Given the description of an element on the screen output the (x, y) to click on. 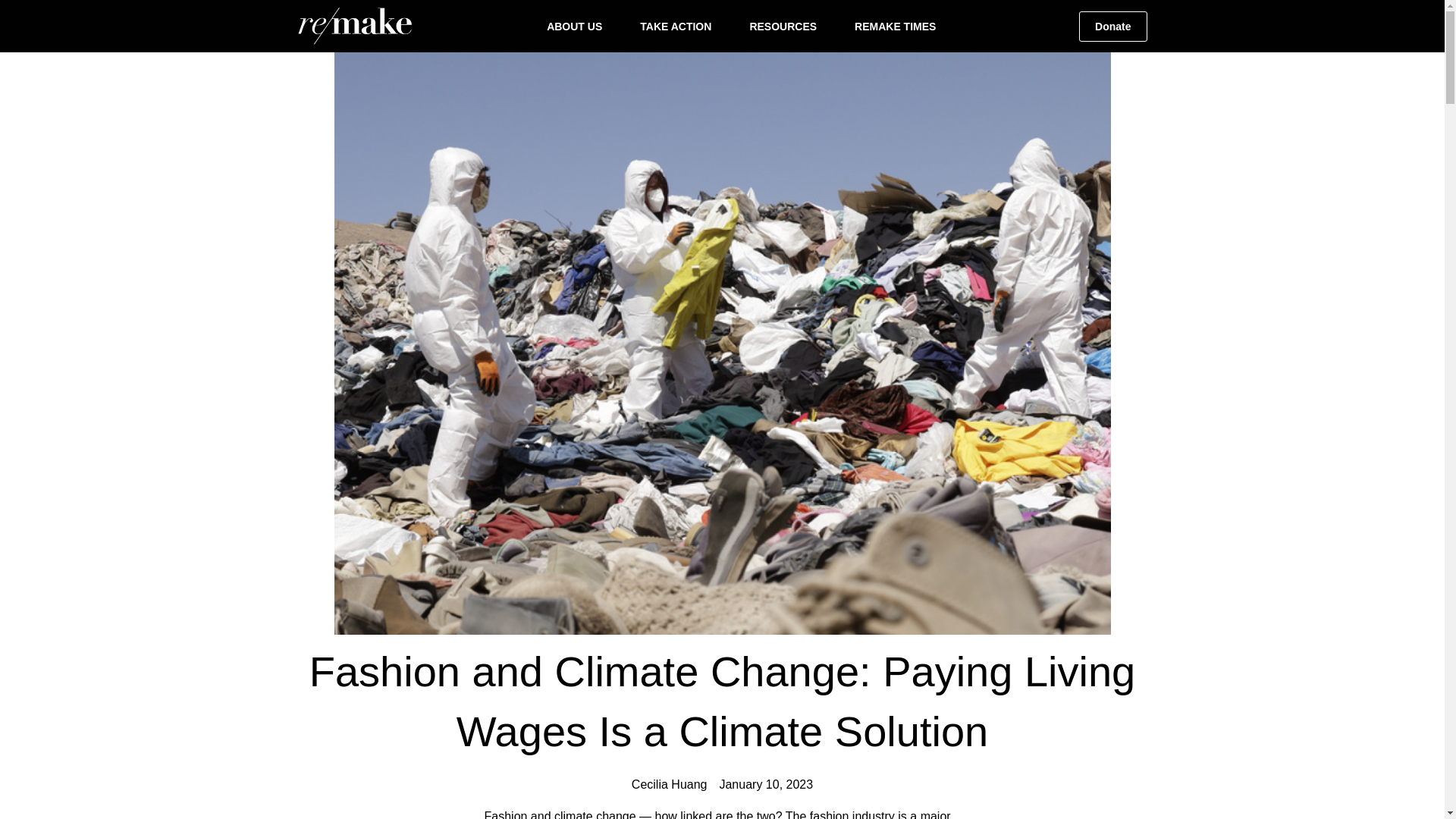
RESOURCES (786, 25)
ABOUT US (577, 25)
TAKE ACTION (678, 25)
REMAKE TIMES (899, 25)
Donate (1112, 25)
